Given the description of an element on the screen output the (x, y) to click on. 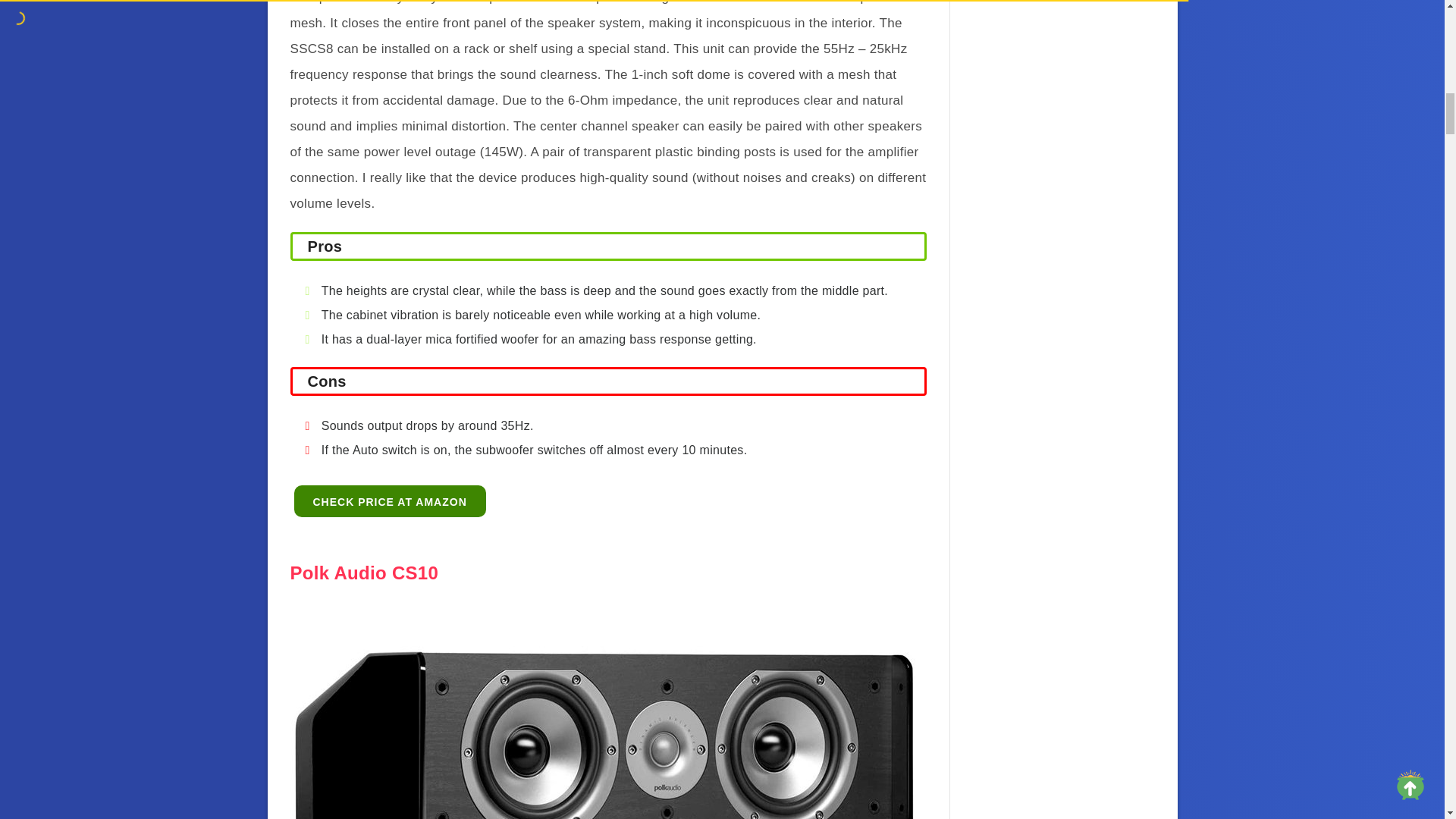
Polk Audio CS10 (363, 572)
CHECK PRICE AT AMAZON (389, 501)
CHECK PRICE AT AMAZON (390, 500)
